Given the description of an element on the screen output the (x, y) to click on. 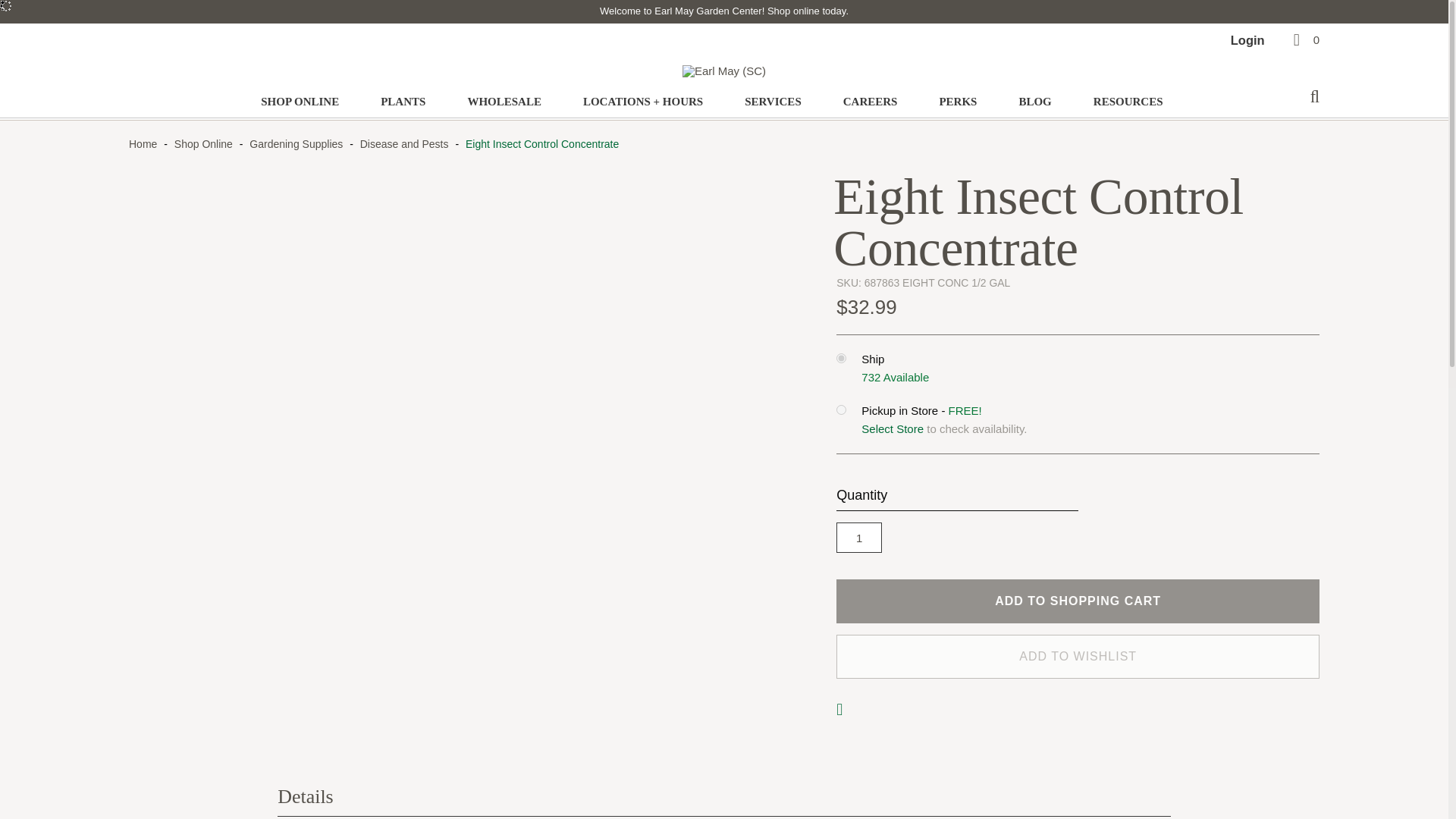
on (840, 357)
SHOP ONLINE (299, 102)
Login (1248, 39)
0 (1304, 39)
on (840, 409)
1 (858, 537)
Cart (1304, 39)
